Given the description of an element on the screen output the (x, y) to click on. 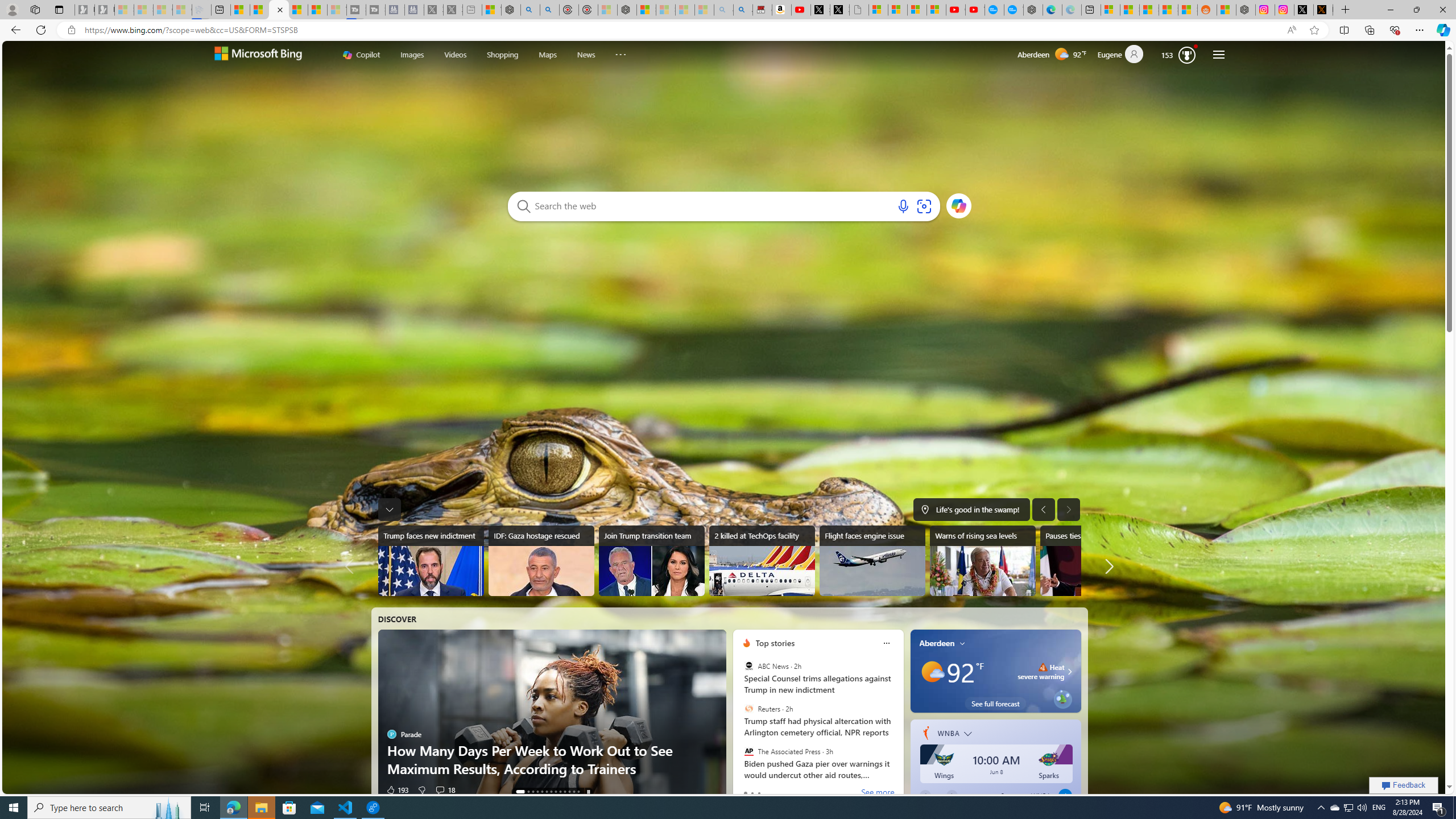
The taskbar was expanded. Press to collapse taskbar (388, 508)
Flight faces engine issue (872, 560)
Mostly sunny (931, 671)
Videos (455, 53)
Copilot (361, 54)
Wildlife - MSN (491, 9)
Log in to X / X (1303, 9)
Grow a virtual seed into a real tree (1061, 697)
